Given the description of an element on the screen output the (x, y) to click on. 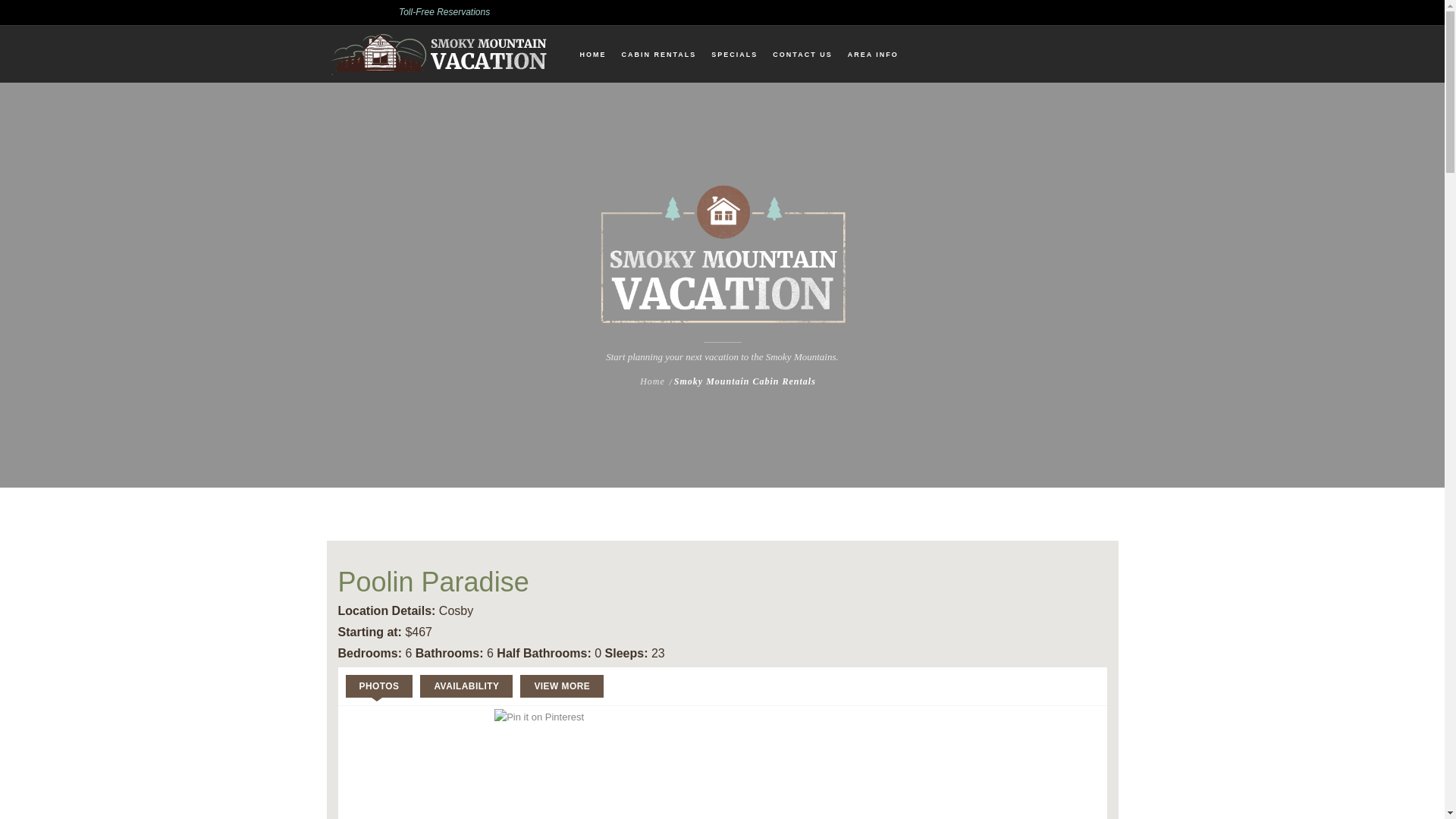
Home (651, 381)
VIEW MORE (561, 685)
CABIN RENTALS (658, 54)
CONTACT US (801, 54)
Smoky Mountain Cabin Rentals (745, 381)
AVAILABILITY (466, 685)
AREA INFO (873, 54)
HOME (593, 54)
PHOTOS (379, 685)
Home (651, 381)
